Given the description of an element on the screen output the (x, y) to click on. 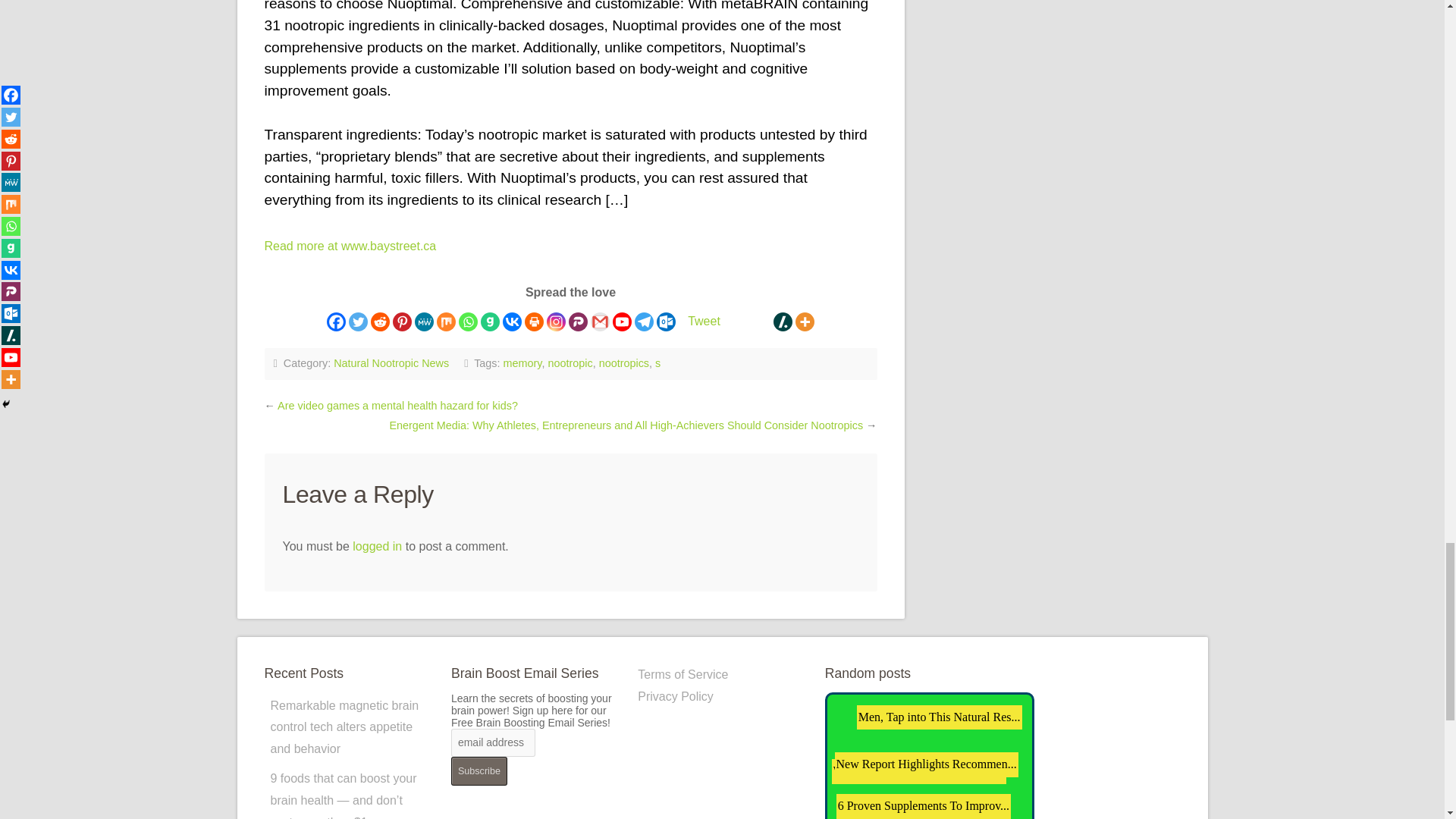
Twitter (358, 321)
Telegram (643, 321)
Gab (489, 321)
Whatsapp (467, 321)
Facebook (336, 321)
Parler (578, 321)
Read more at www.baystreet.ca (349, 245)
Print (533, 321)
Google Gmail (600, 321)
Pinterest (402, 321)
Reddit (380, 321)
Tweet (703, 321)
Mix (445, 321)
Vkontakte (511, 321)
Youtube (621, 321)
